Given the description of an element on the screen output the (x, y) to click on. 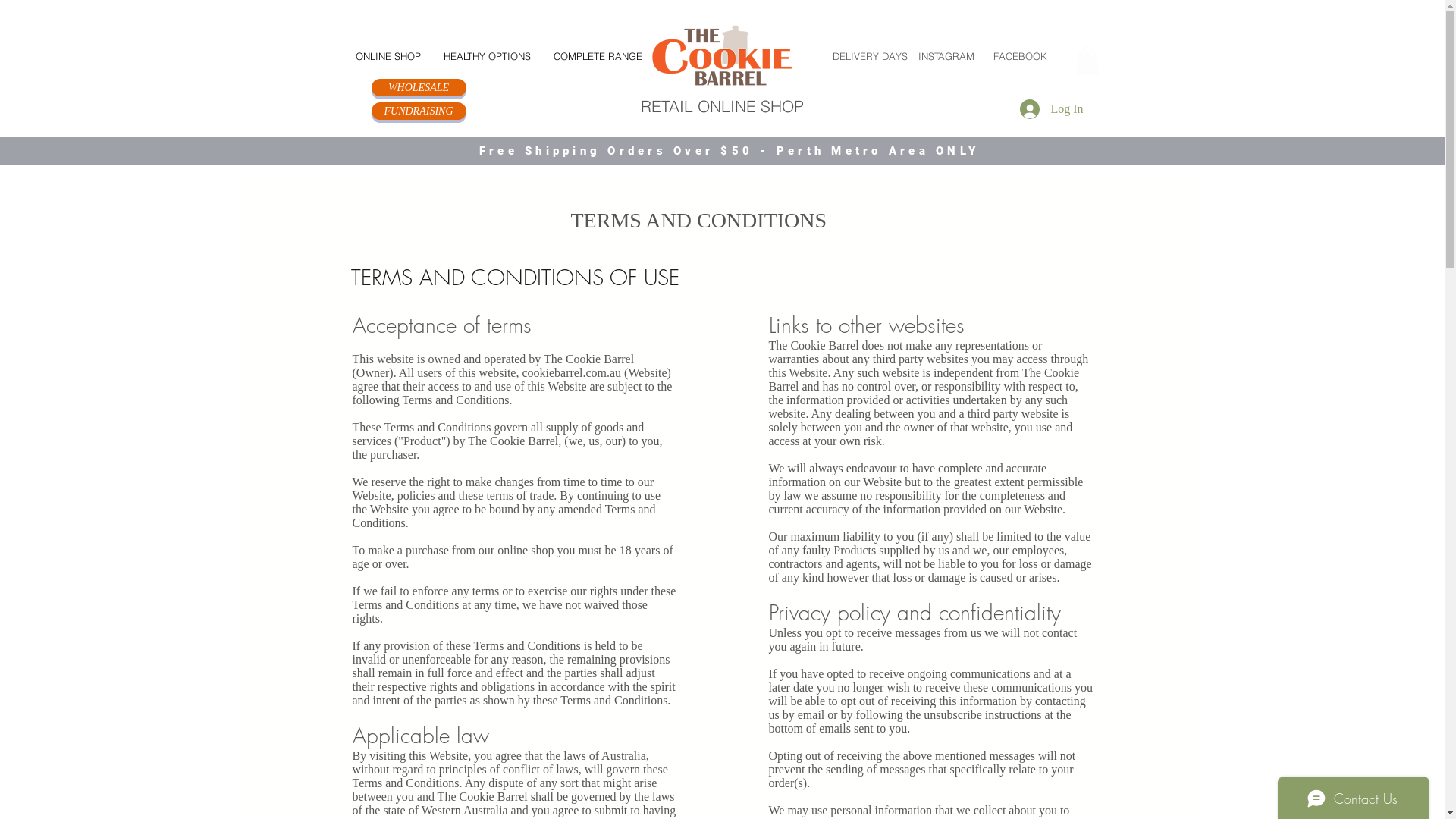
COMPLETE RANGE Element type: text (597, 56)
ONLINE SHOP Element type: text (388, 56)
WHOLESALE Element type: text (418, 87)
INSTAGRAM Element type: text (945, 56)
HEALTHY OPTIONS Element type: text (487, 56)
FUNDRAISING Element type: text (418, 110)
DELIVERY DAYS Element type: text (869, 55)
0 Element type: text (1087, 60)
FACEBOOK Element type: text (1020, 56)
Log In Element type: text (1051, 108)
